Given the description of an element on the screen output the (x, y) to click on. 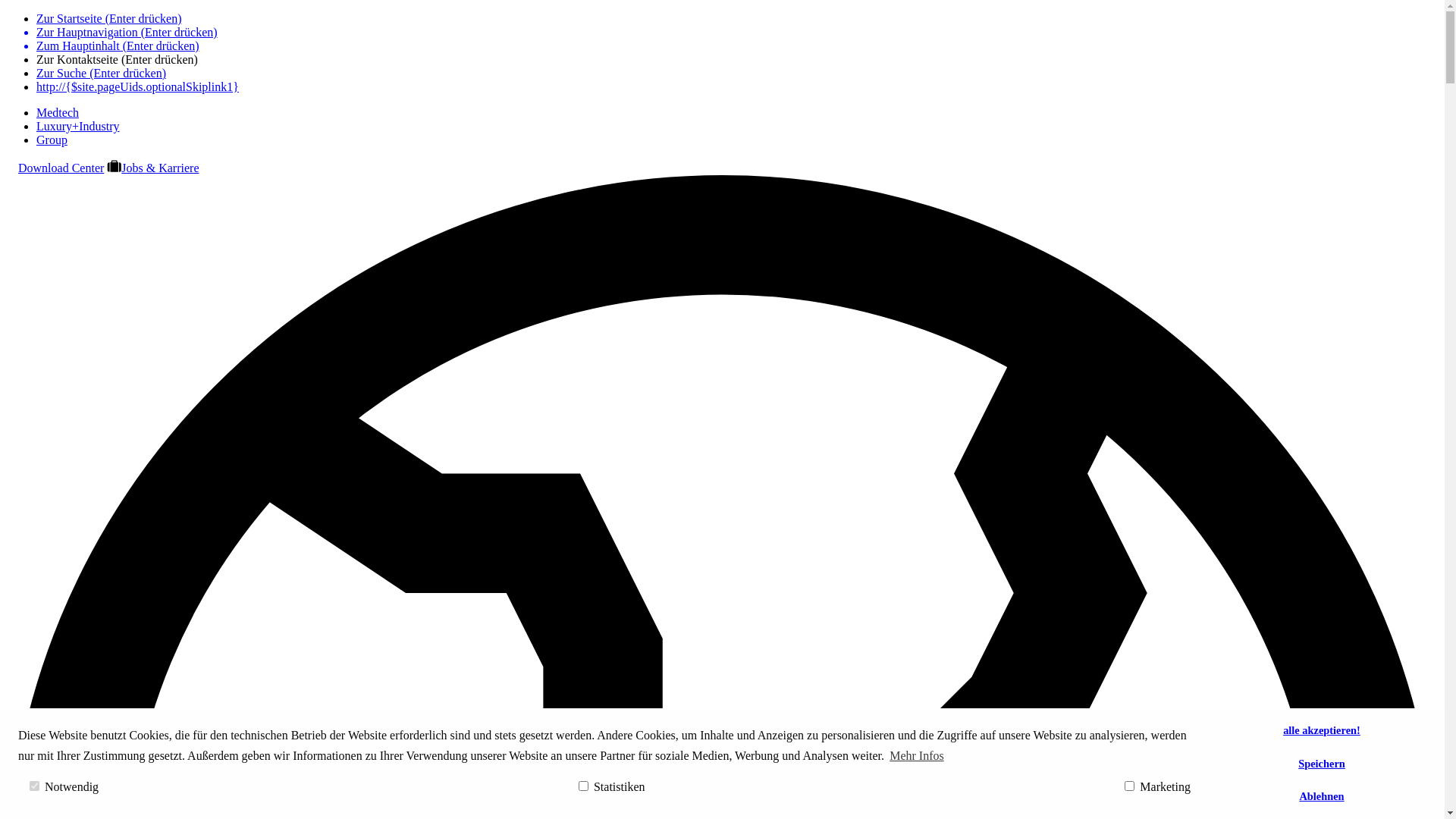
Luxury+Industry Element type: text (77, 125)
Medtech Element type: text (57, 112)
Mehr Infos Element type: text (916, 755)
Jobs & Karriere Element type: text (152, 167)
Speichern Element type: text (1321, 763)
Group Element type: text (51, 139)
alle akzeptieren! Element type: text (1321, 730)
Ablehnen Element type: text (1321, 796)
